Given the description of an element on the screen output the (x, y) to click on. 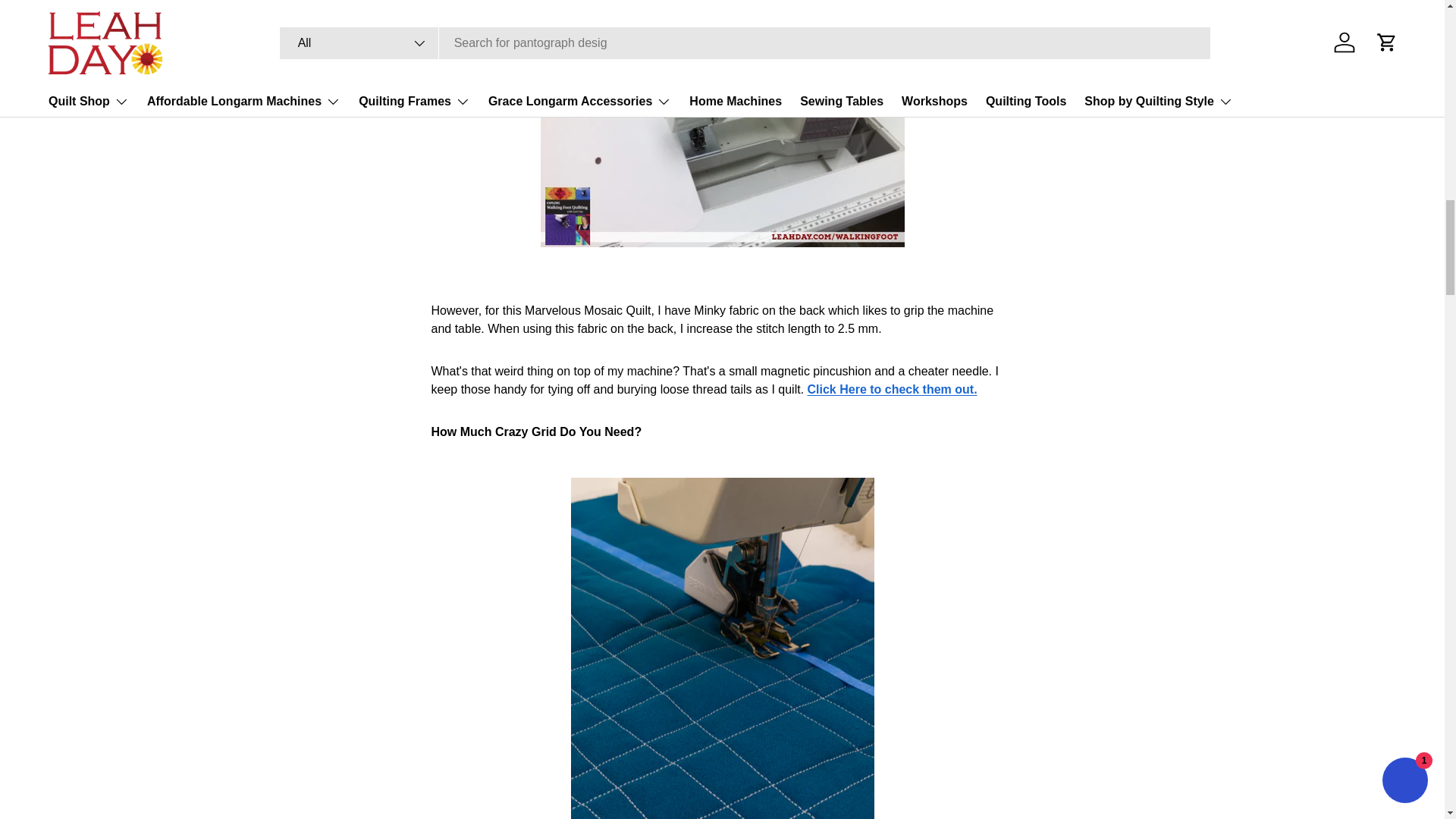
Hide Your Threads Kit (892, 389)
